Given the description of an element on the screen output the (x, y) to click on. 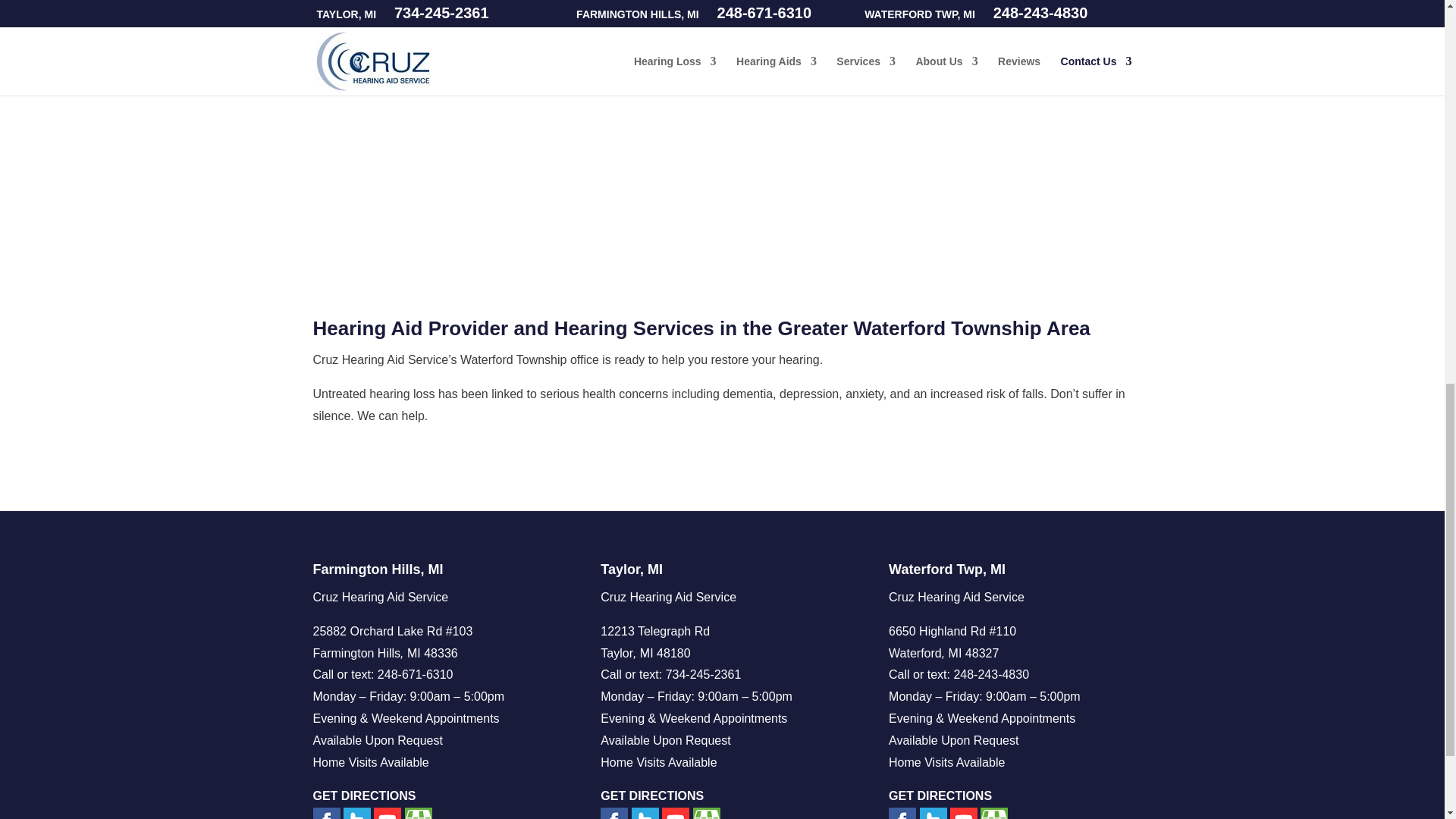
Send (794, 1)
